Given the description of an element on the screen output the (x, y) to click on. 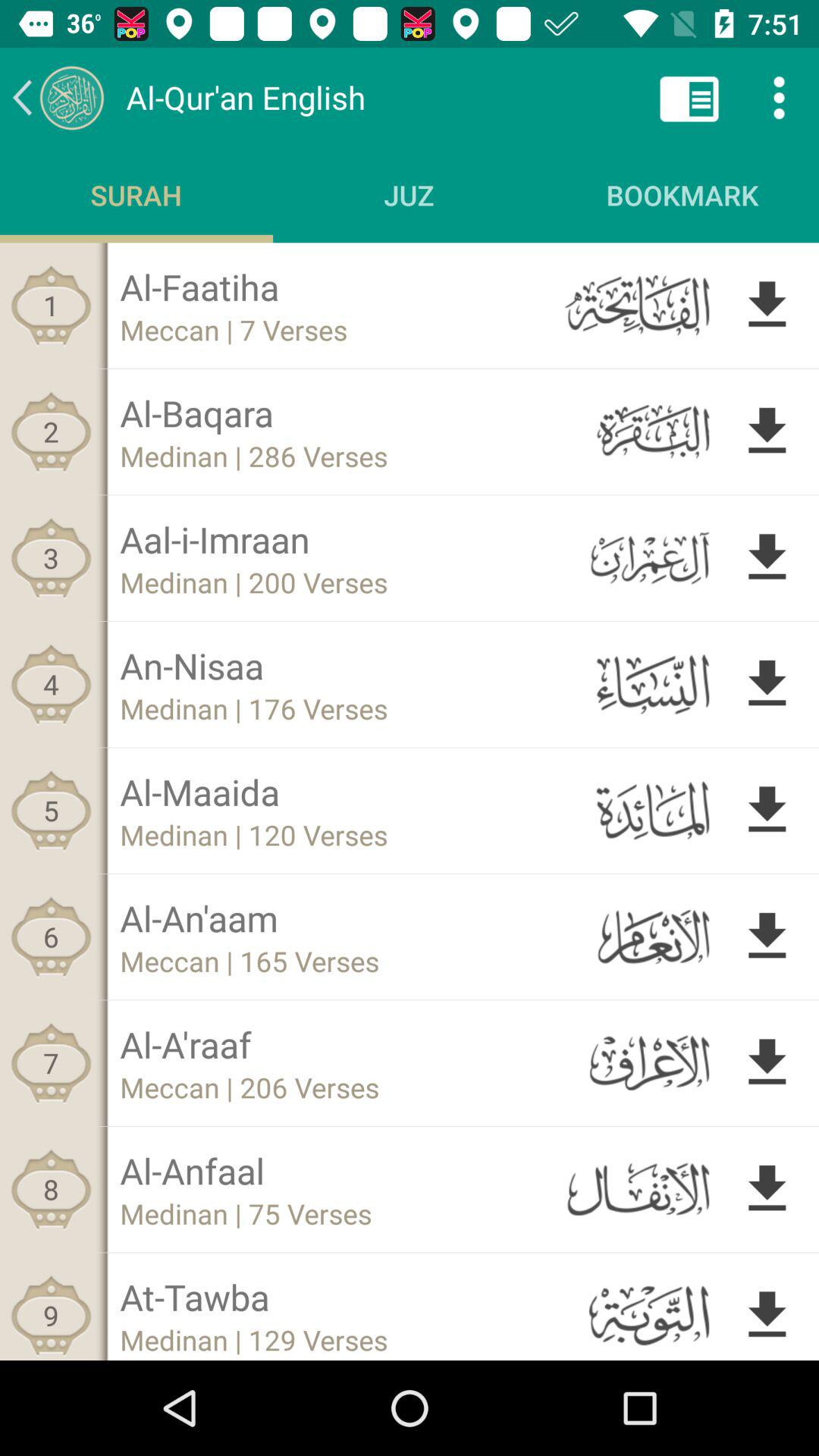
download (767, 810)
